Given the description of an element on the screen output the (x, y) to click on. 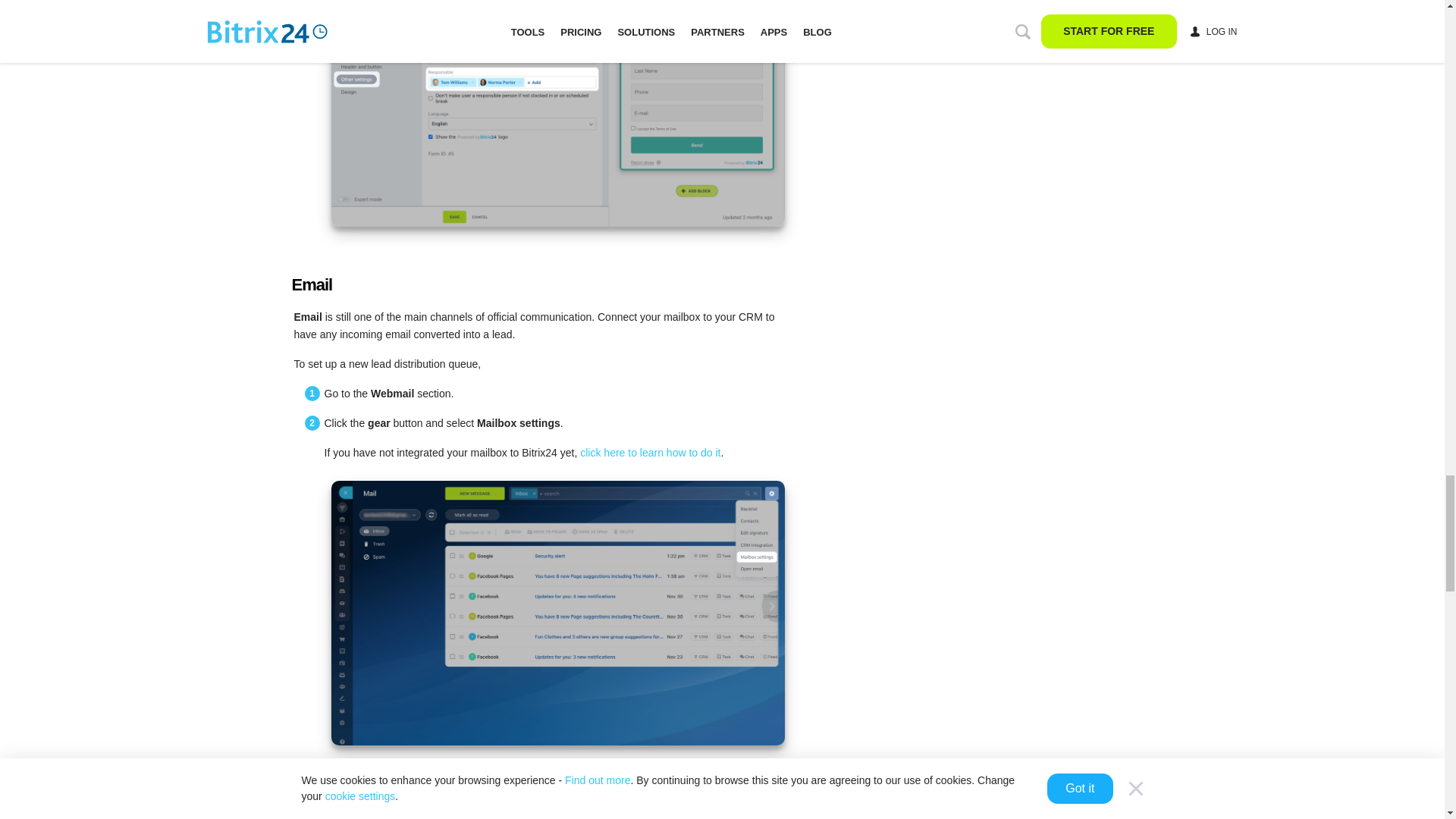
Mailbox settings (557, 612)
Other settings (557, 113)
Distribution queue (557, 809)
click here to learn how to do it (649, 452)
